Given the description of an element on the screen output the (x, y) to click on. 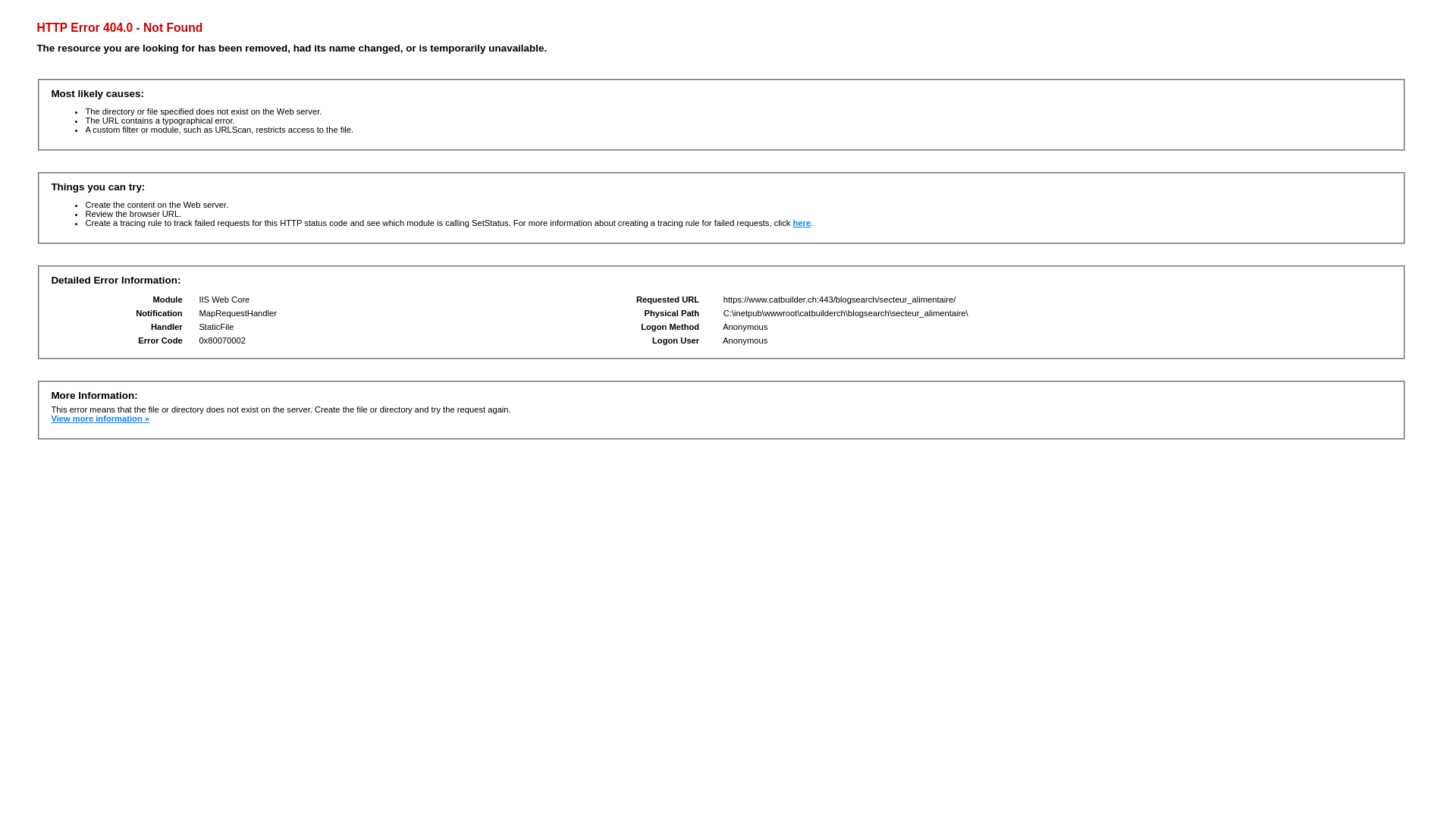
here Element type: text (802, 222)
